Given the description of an element on the screen output the (x, y) to click on. 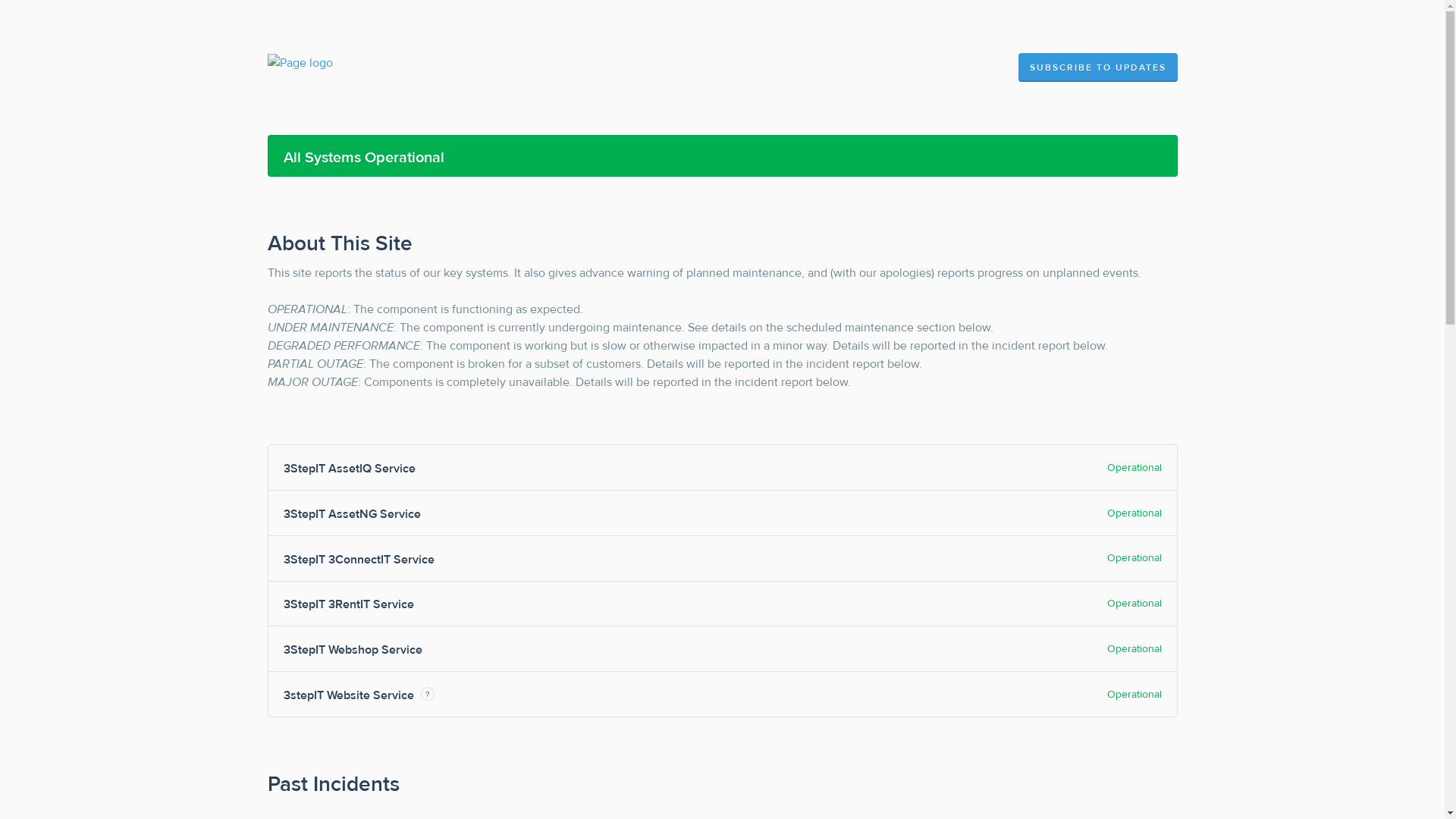
About This Site Element type: text (338, 243)
Past Incidents Element type: text (332, 784)
